Given the description of an element on the screen output the (x, y) to click on. 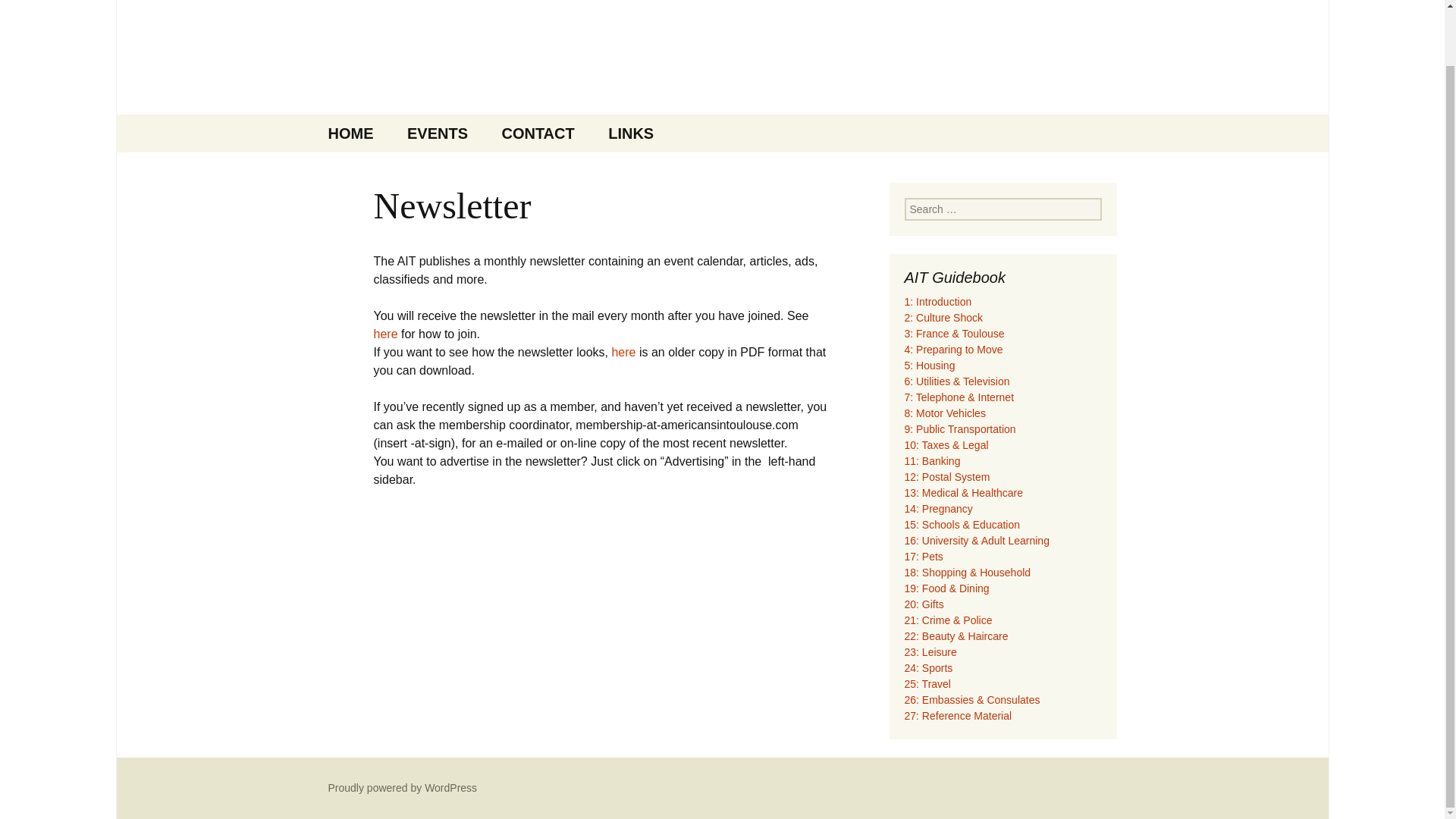
EVENTS (437, 133)
24: Sports (928, 667)
12: Postal System (947, 476)
CONTACT (537, 133)
14: Pregnancy (938, 508)
5: Housing (929, 365)
25: Travel (927, 684)
1: Introduction (937, 301)
17: Pets (923, 556)
2: Culture Shock (943, 317)
LINKS (630, 133)
Proudly powered by WordPress (402, 787)
27: Reference Material (957, 715)
here (622, 351)
